Given the description of an element on the screen output the (x, y) to click on. 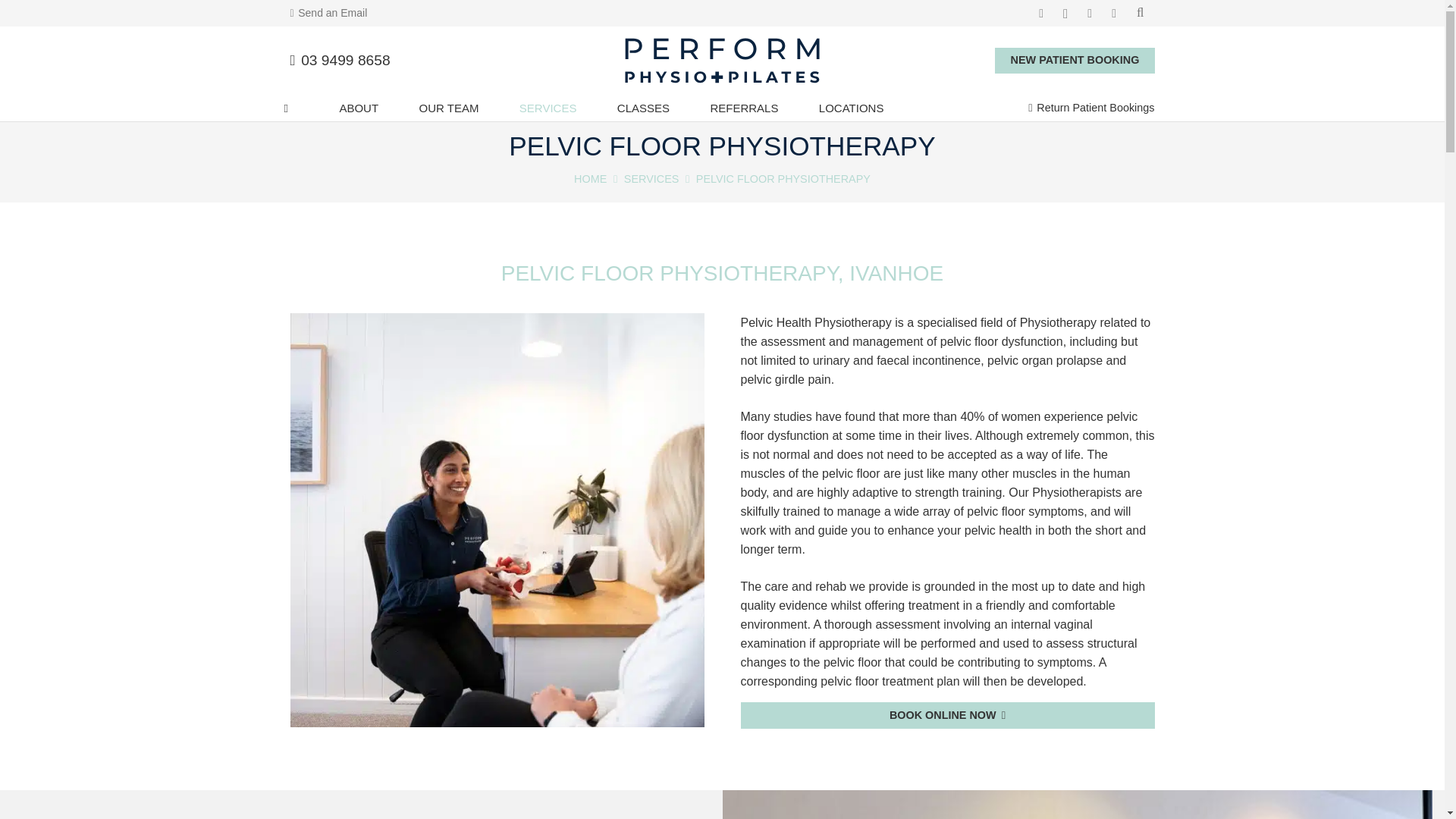
YouTube (1113, 13)
Book Online (946, 714)
Instagram (1064, 13)
LinkedIn (1089, 13)
Facebook (1040, 13)
NEW PATIENT BOOKING (1074, 60)
ABOUT (358, 108)
03 9499 8658 (339, 59)
Send an Email (327, 12)
CLASSES (643, 108)
OUR TEAM (448, 108)
SERVICES (548, 108)
